Given the description of an element on the screen output the (x, y) to click on. 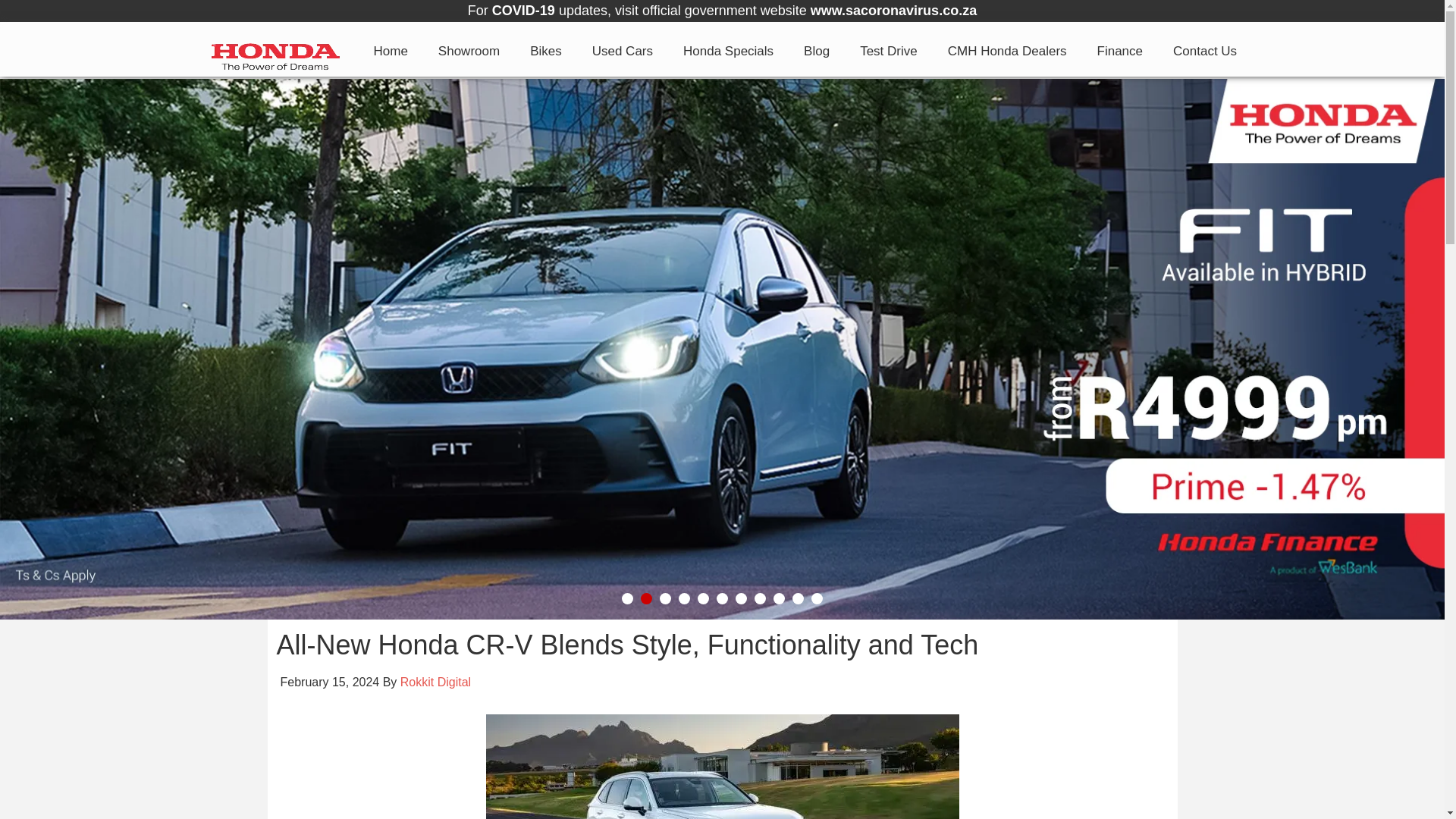
Bikes (545, 49)
CMH Honda (275, 51)
Home (390, 49)
Showroom (468, 49)
www.sacoronavirus.co.za (893, 10)
Used Cars (621, 49)
